Given the description of an element on the screen output the (x, y) to click on. 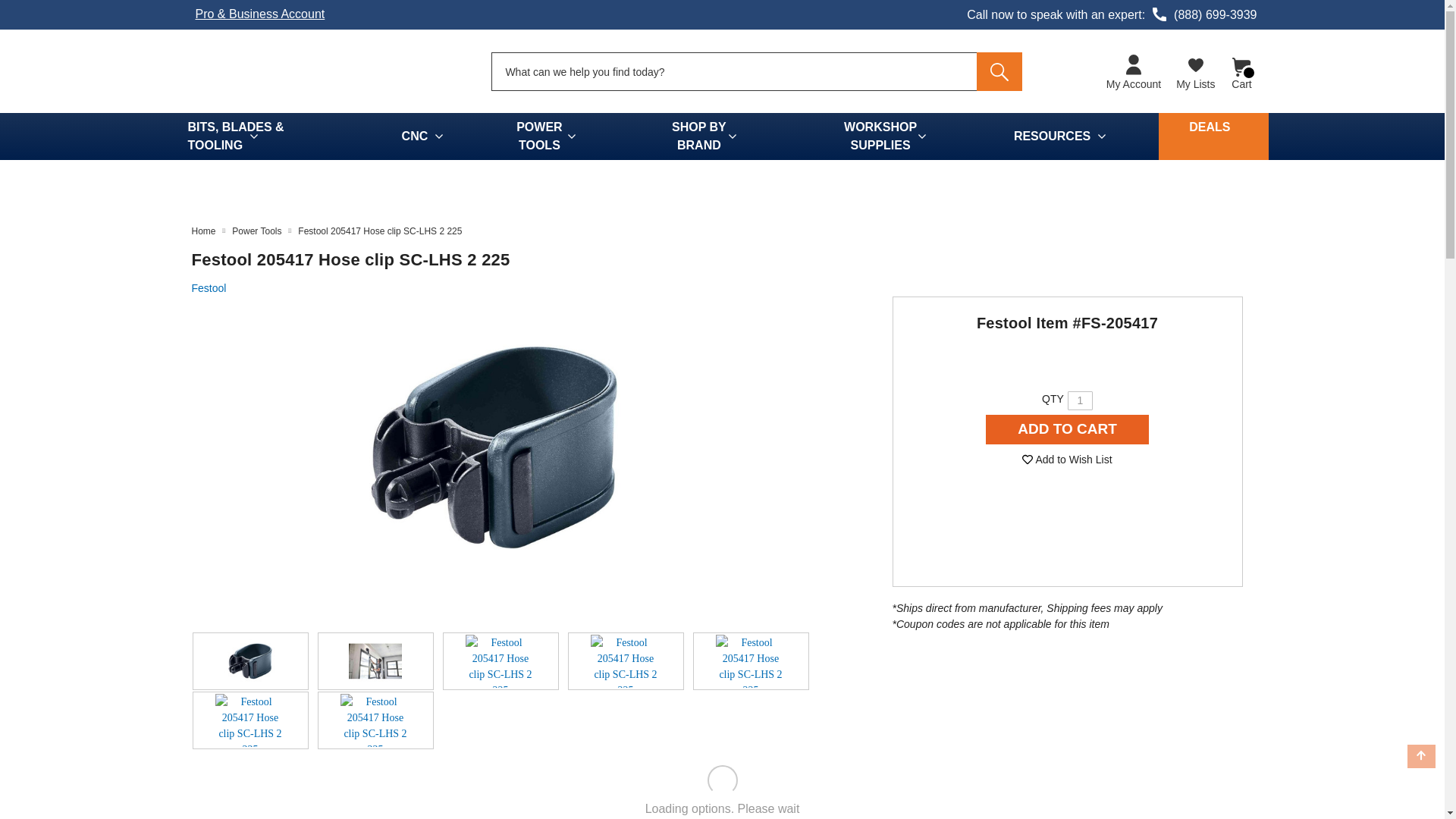
Add to Cart (1067, 429)
My Lists (1195, 72)
1 (1080, 400)
Festool 205417 Hose clip SC-LHS 2 225 (493, 447)
Festool 205417 Hose clip SC-LHS 2 225 (751, 660)
Wish list items (1195, 72)
Festool 205417 Hose clip SC-LHS 2 225 (626, 660)
Festool 205417 Hose clip SC-LHS 2 225 (250, 660)
Festool 205417 Hose clip SC-LHS 2 225 (375, 660)
My Account (1134, 73)
Festool 205417 Hose clip SC-LHS 2 225 (250, 719)
Festool 205417 Hose clip SC-LHS 2 225 (375, 719)
Festool 205417 Hose clip SC-LHS 2 225 (500, 660)
